Given the description of an element on the screen output the (x, y) to click on. 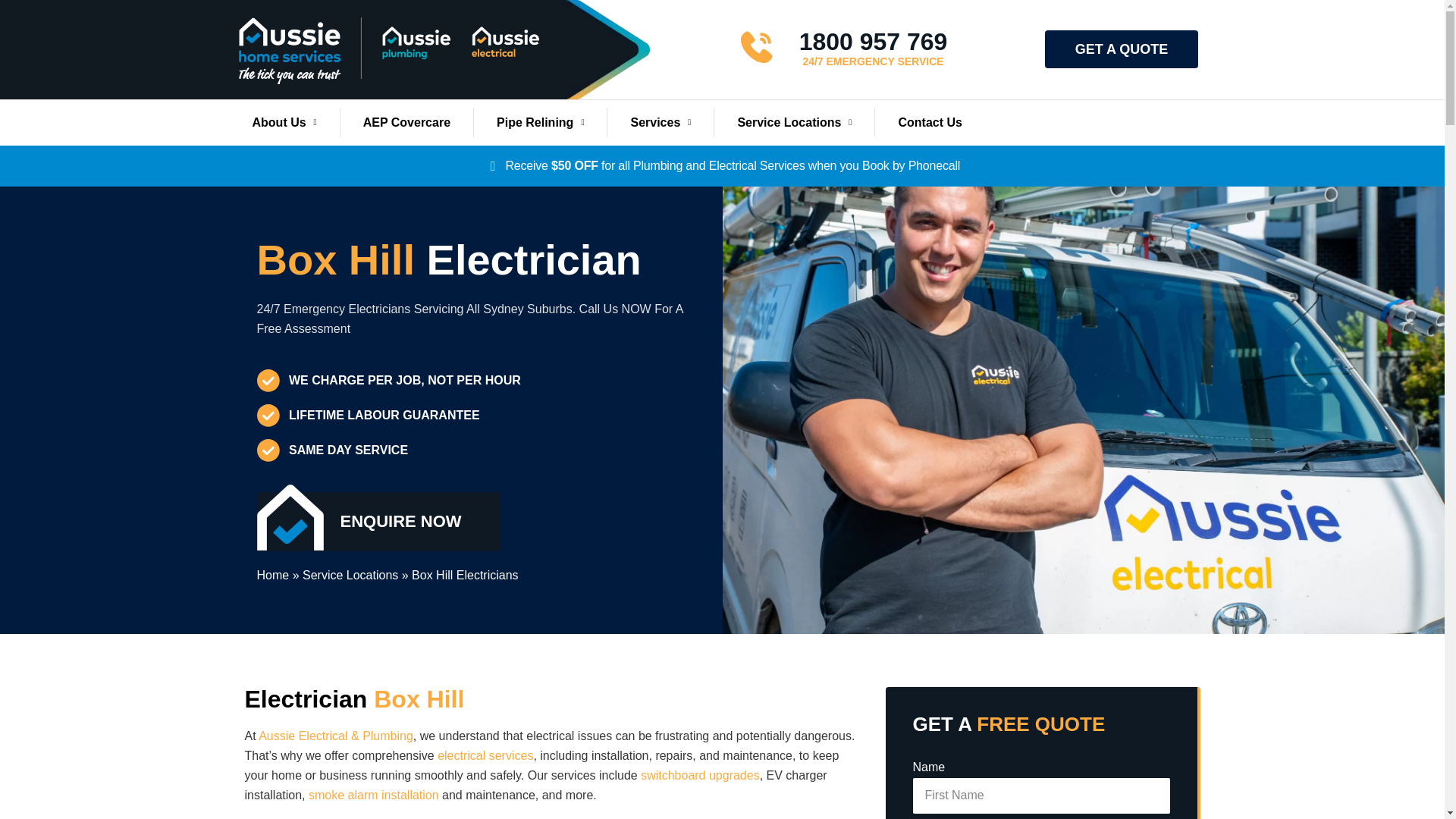
Pipe Relining (540, 122)
1800 957 769 (873, 41)
GET A QUOTE (1121, 48)
Services (660, 122)
About Us (283, 122)
AEP Covercare (406, 122)
